Given the description of an element on the screen output the (x, y) to click on. 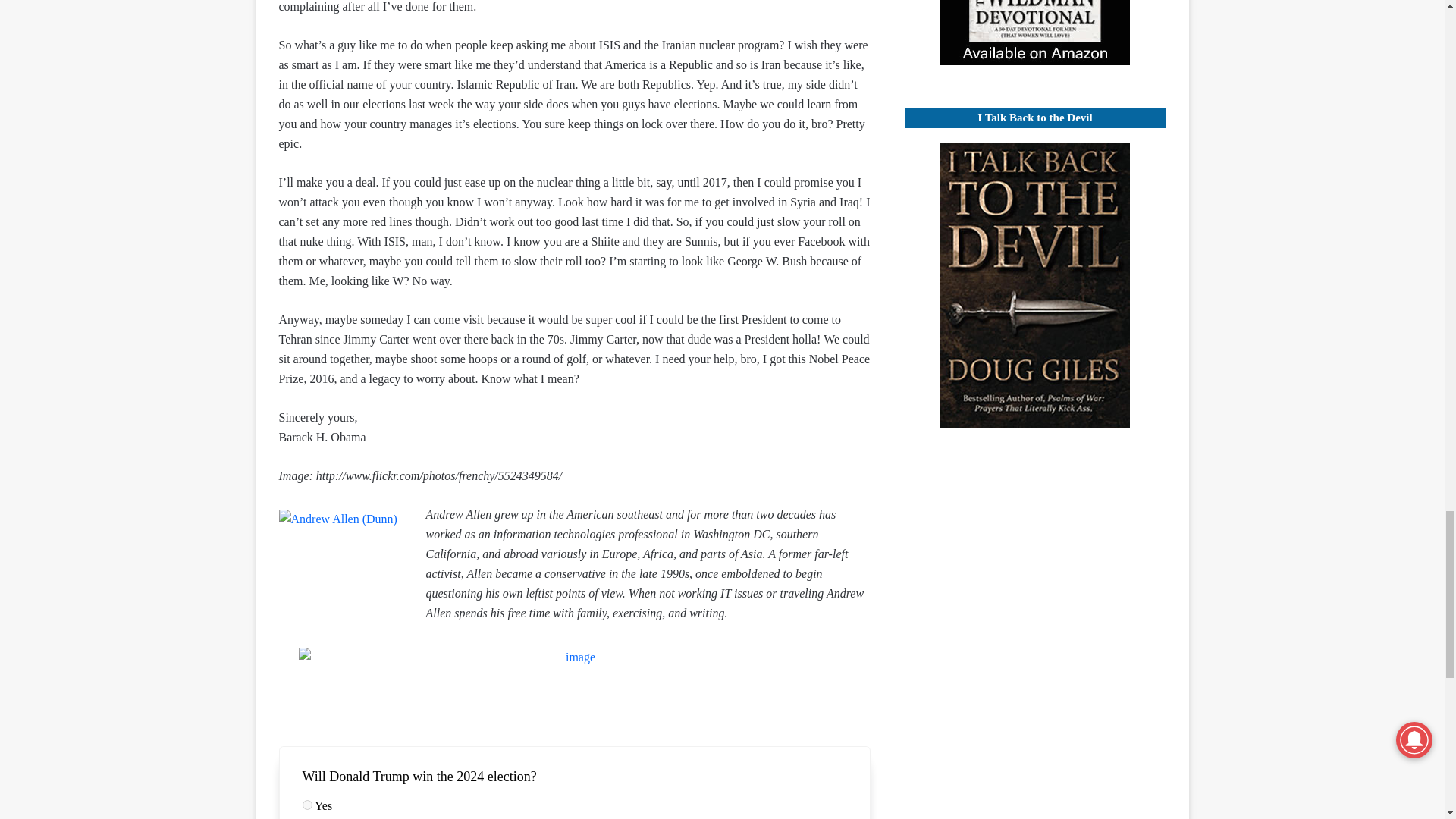
9 (306, 804)
